Given the description of an element on the screen output the (x, y) to click on. 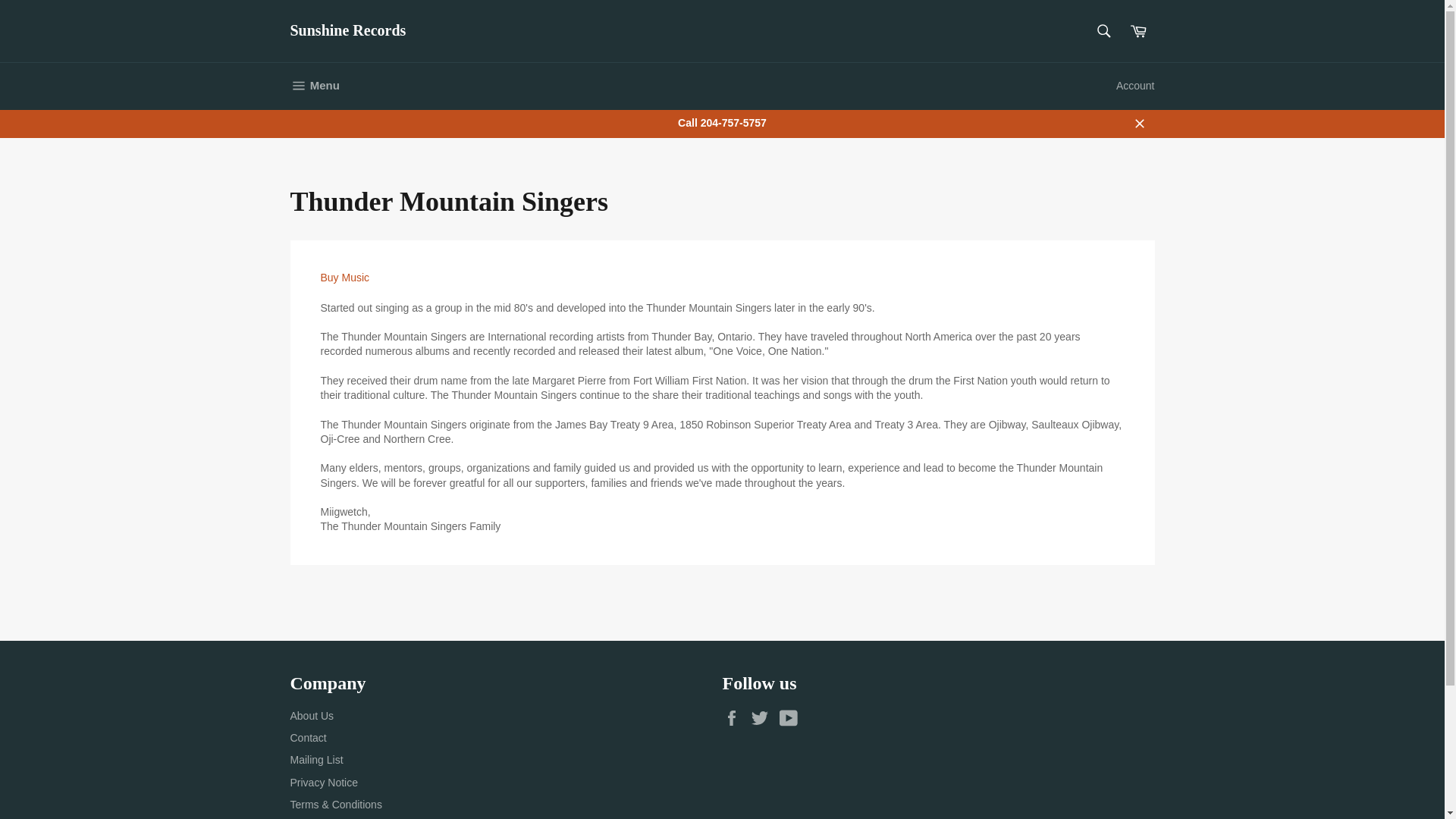
Account (1134, 85)
Search (1103, 30)
Sunshine Records on YouTube (791, 718)
Sunshine Records (314, 86)
Close (347, 30)
Cart (1139, 123)
Sunshine Records on Facebook (1138, 30)
Buy Music (735, 718)
Sunshine Records on Twitter (344, 277)
